Given the description of an element on the screen output the (x, y) to click on. 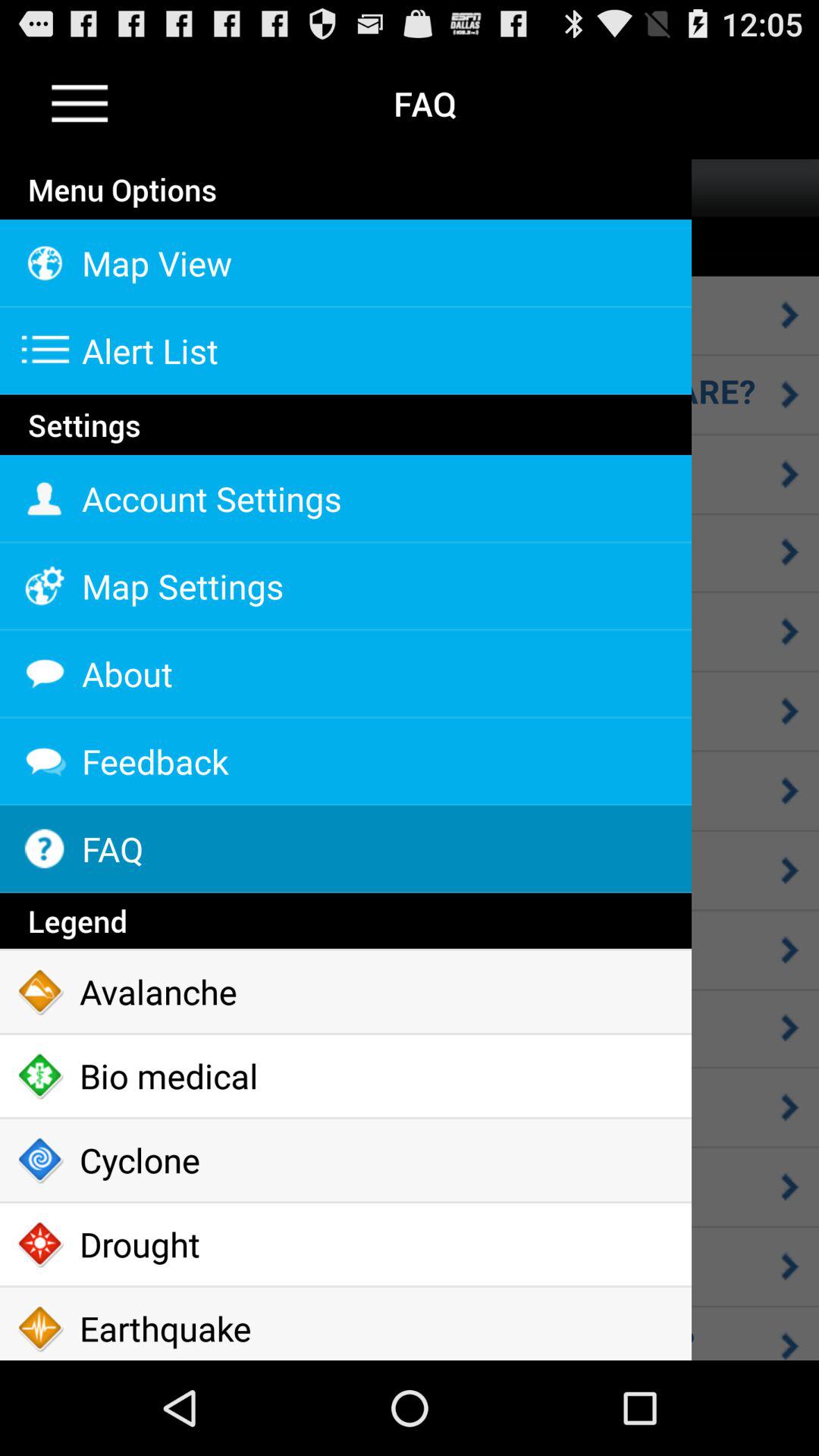
select the cyclone icon (345, 1160)
